Given the description of an element on the screen output the (x, y) to click on. 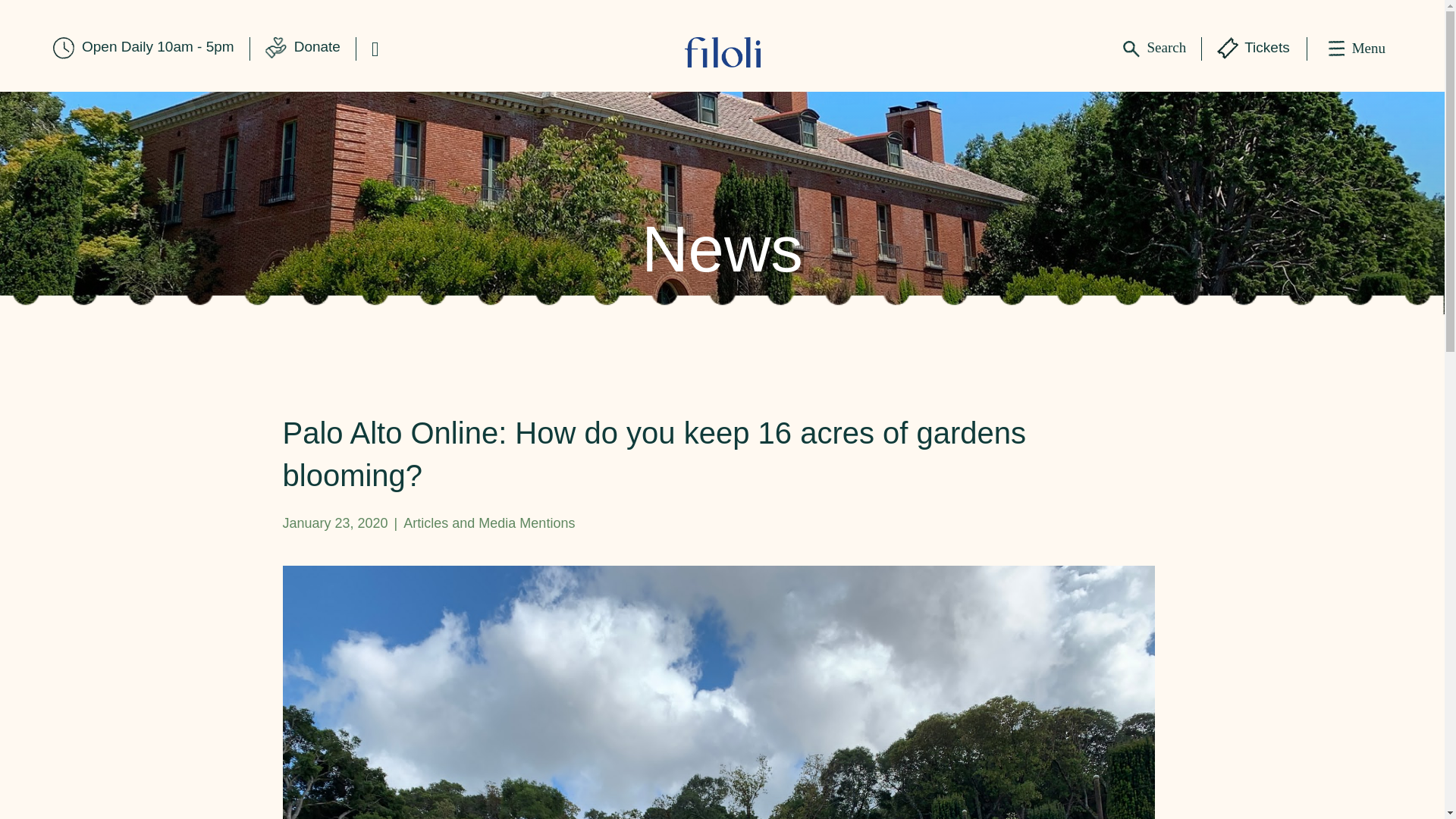
Menu (1356, 49)
Donate (317, 47)
Filoli Logo Color Wordmark (722, 51)
Filoli Icon Clock (63, 47)
Filoli Icon Ticket (1228, 47)
Tickets (1266, 47)
Filoli Icon Donate (275, 47)
Open Daily 10am - 5pm (157, 47)
